Given the description of an element on the screen output the (x, y) to click on. 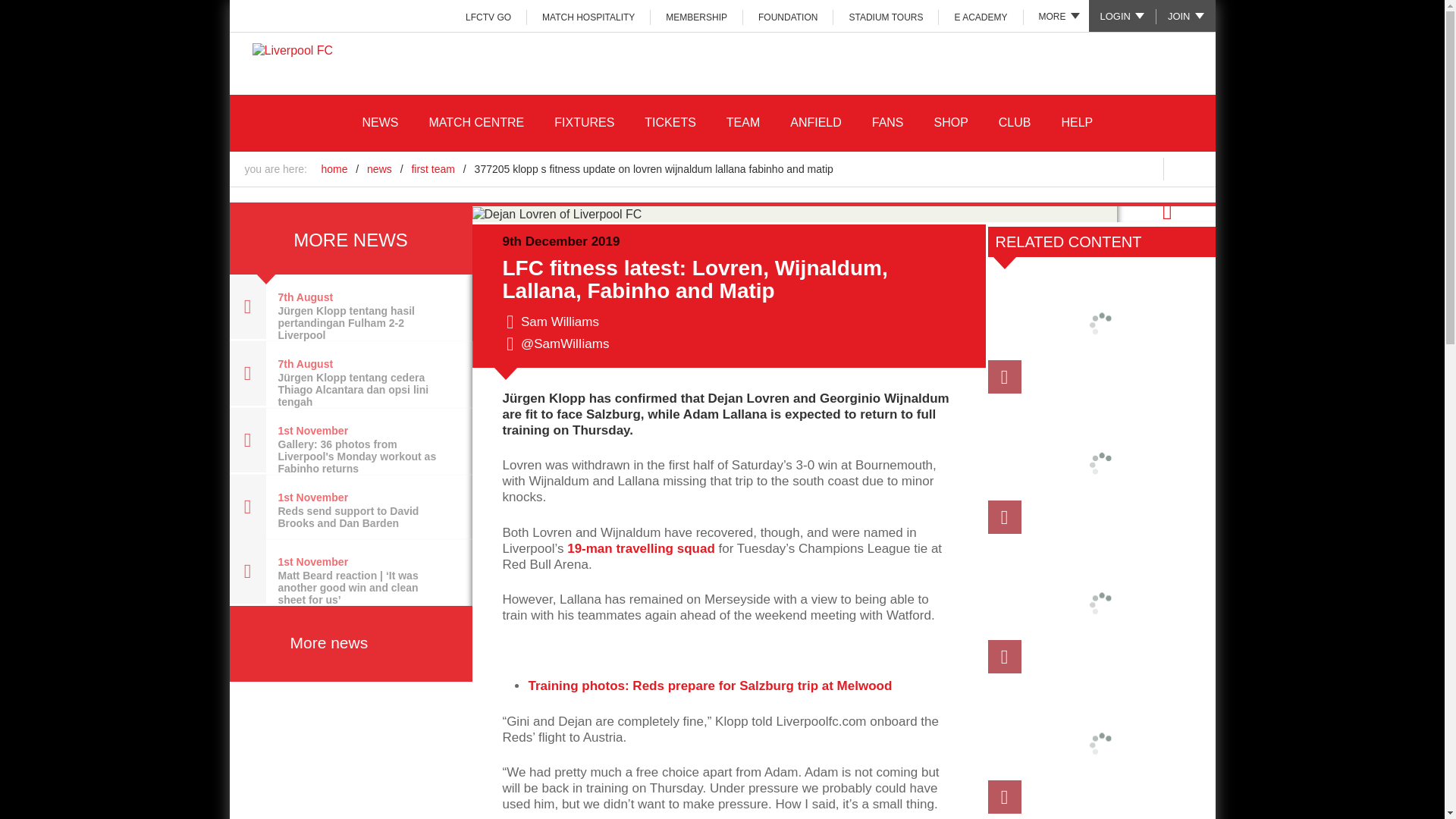
STADIUM TOURS (885, 17)
Go to The Official Liverpool Football Club Twitter page (1046, 169)
Go to The Official Liverpool Football Club Alexa page (1142, 169)
MEMBERSHIP (696, 17)
MORE (1056, 15)
Go to The Official Liverpool Football Club Facebook page (1015, 169)
Go to The Official Liverpool Football Club Youtube page (1110, 169)
MATCH HOSPITALITY (588, 17)
Go to The Official Liverpool Football Club Instagram page (1078, 169)
Home (292, 50)
Go to The Official Liverpool Football Club Global page (1188, 169)
Twitter (1164, 212)
JOIN (1185, 15)
E ACADEMY (981, 17)
